Given the description of an element on the screen output the (x, y) to click on. 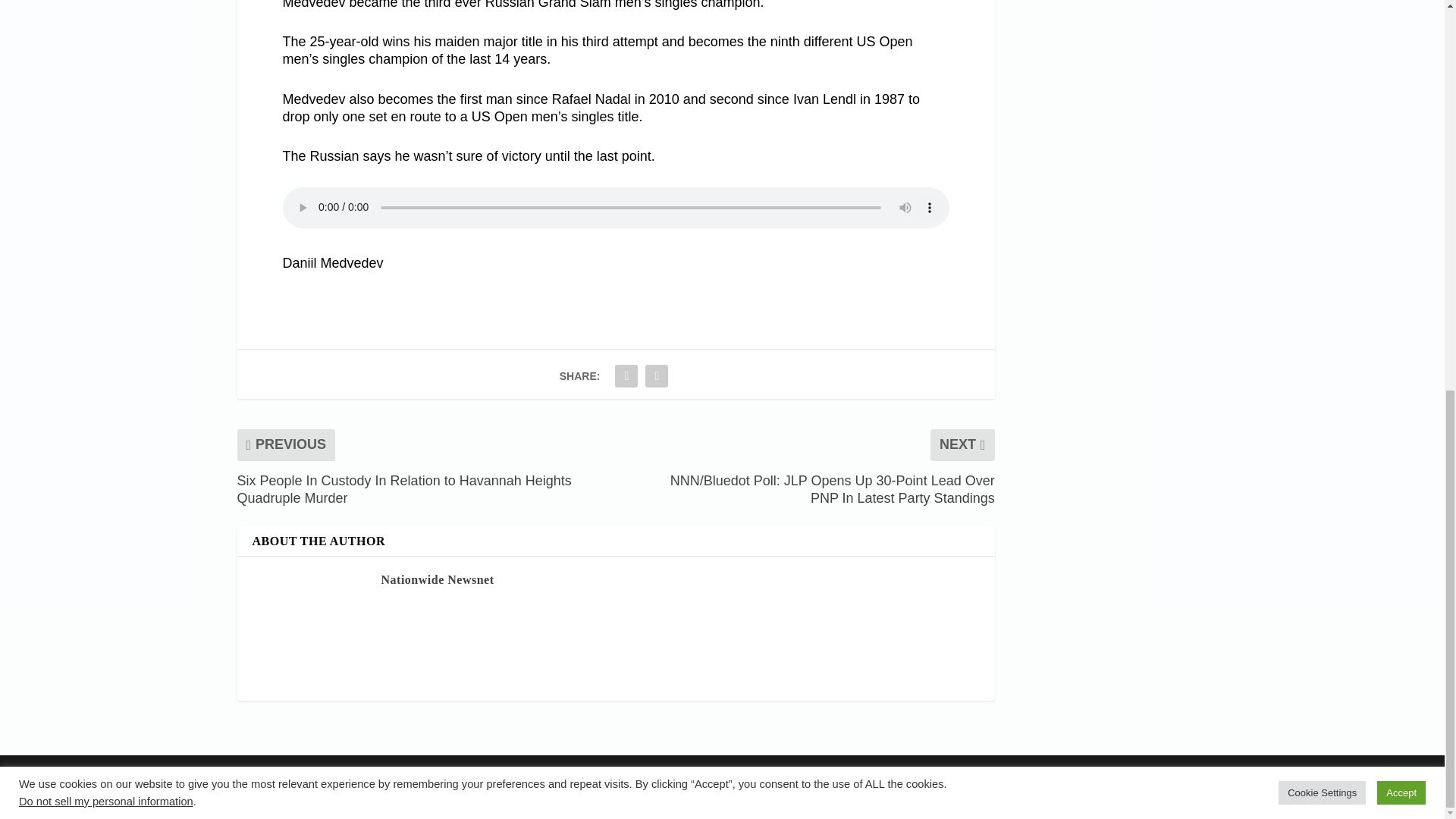
View all posts by Nationwide Newsnet (436, 579)
Premium WordPress Themes (336, 772)
